Given the description of an element on the screen output the (x, y) to click on. 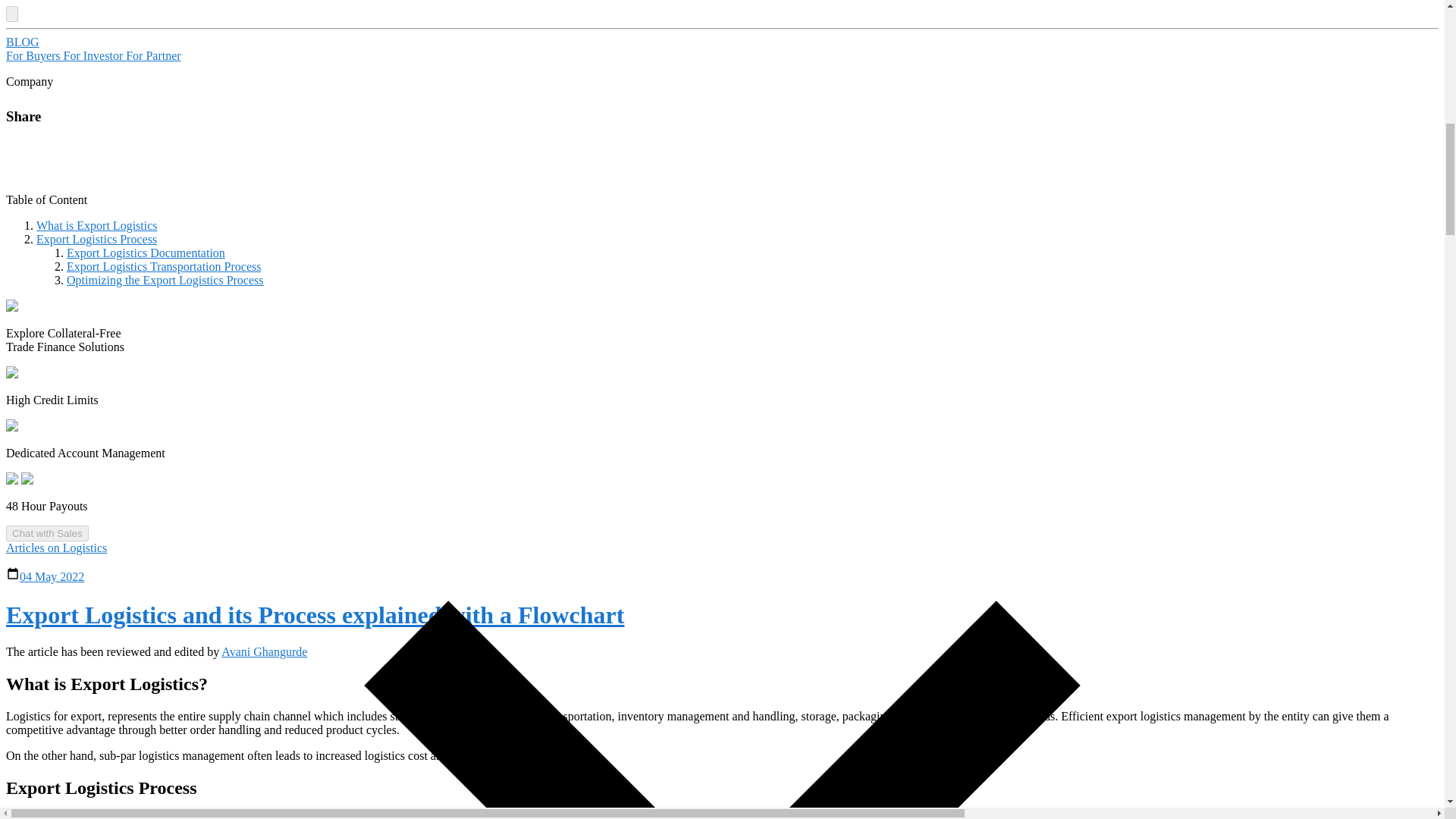
Optimizing the Export Logistics Process (164, 279)
For Partner (152, 55)
For Investor (95, 55)
For Buyers (34, 55)
What is Export Logistics (96, 225)
Chat with Sales (46, 533)
Avani Ghangurde (264, 651)
Export Logistics Documentation (145, 252)
Export Logistics Process (96, 238)
Export Logistics Transportation Process (163, 266)
BLOG (22, 42)
